Given the description of an element on the screen output the (x, y) to click on. 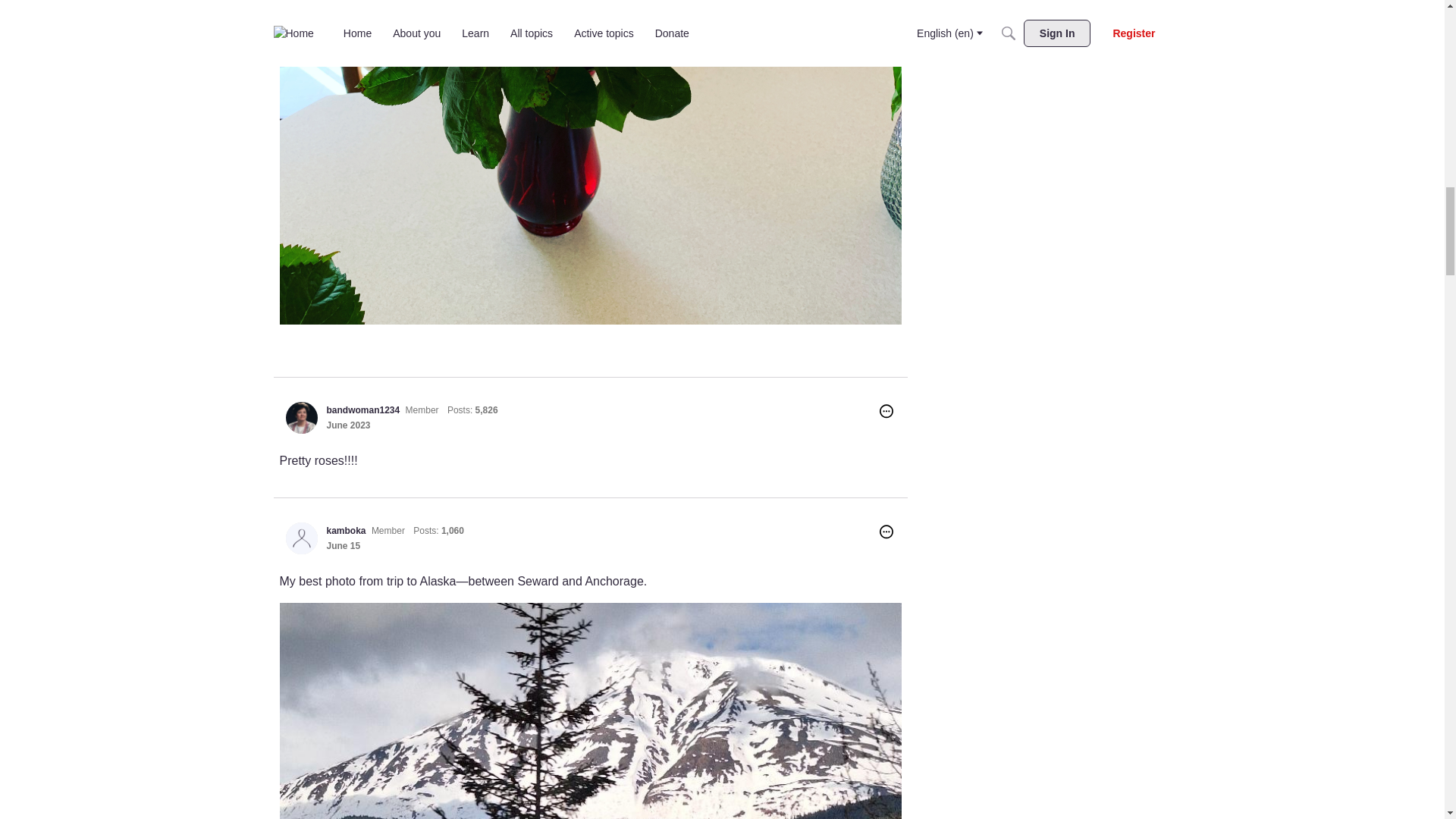
June 15, 2024 7:53AM (342, 545)
June 2, 2023 1:19AM (347, 425)
bandwoman1234 (301, 418)
kamboka (301, 538)
June 15 (342, 545)
kamboka (345, 530)
bandwoman1234 (362, 409)
June 2023 (347, 425)
